Given the description of an element on the screen output the (x, y) to click on. 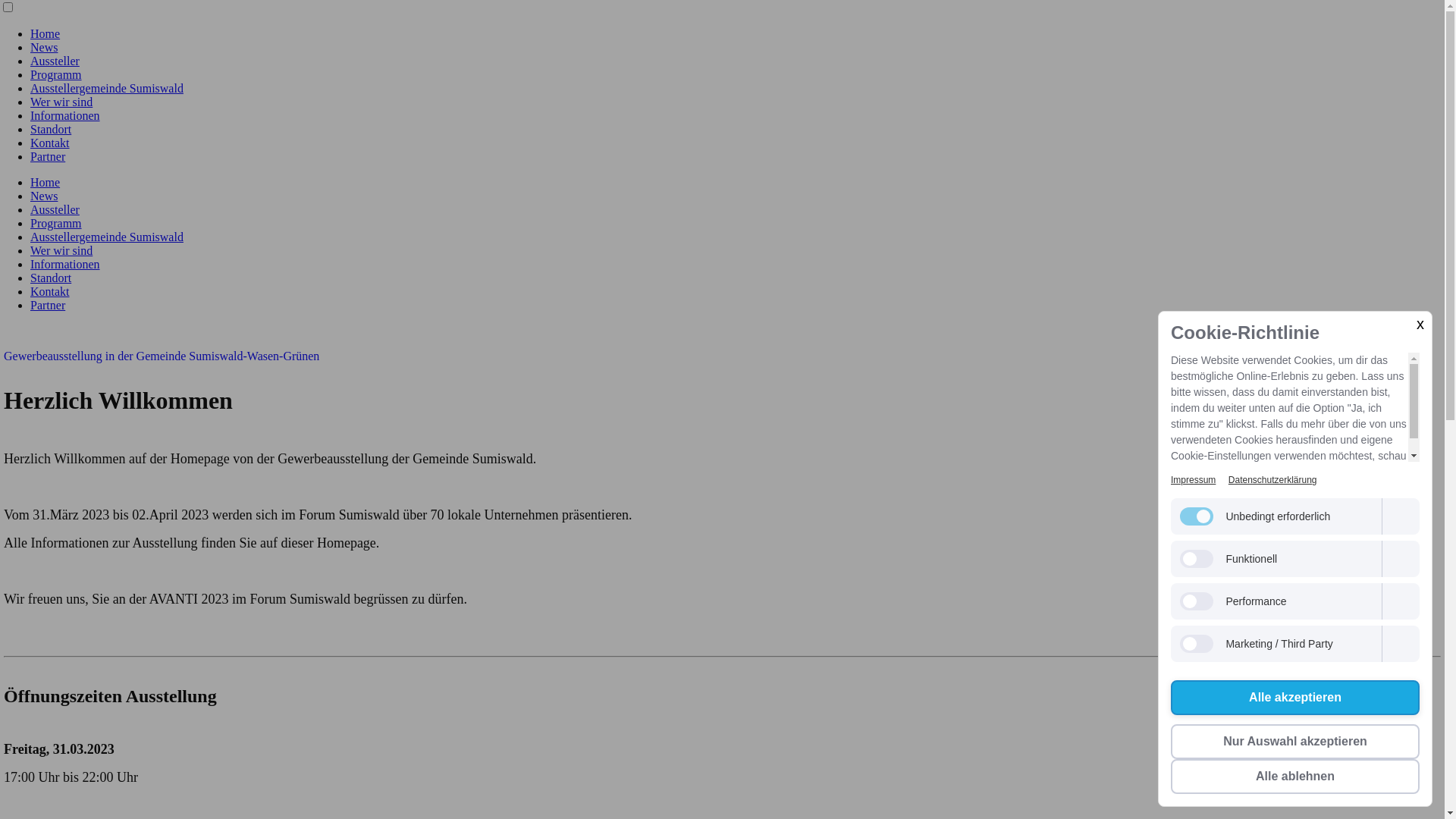
Kontakt Element type: text (49, 142)
Informationen Element type: text (65, 263)
Aussteller Element type: text (54, 60)
Kontakt Element type: text (49, 291)
News Element type: text (43, 46)
News Element type: text (43, 195)
Home Element type: text (44, 181)
Alle ablehnen Element type: text (1294, 776)
Wer wir sind Element type: text (61, 250)
Programm Element type: text (55, 222)
Partner Element type: text (47, 156)
Aussteller Element type: text (54, 209)
Wer wir sind Element type: text (61, 101)
Ausstellergemeinde Sumiswald Element type: text (106, 87)
Impressum Element type: text (1192, 479)
Home Element type: text (44, 33)
Programm Element type: text (55, 74)
Standort Element type: text (50, 277)
Alle akzeptieren Element type: text (1294, 697)
Nur Auswahl akzeptieren Element type: text (1294, 741)
Ausstellergemeinde Sumiswald Element type: text (106, 236)
Informationen Element type: text (65, 115)
Standort Element type: text (50, 128)
Partner Element type: text (47, 304)
